Given the description of an element on the screen output the (x, y) to click on. 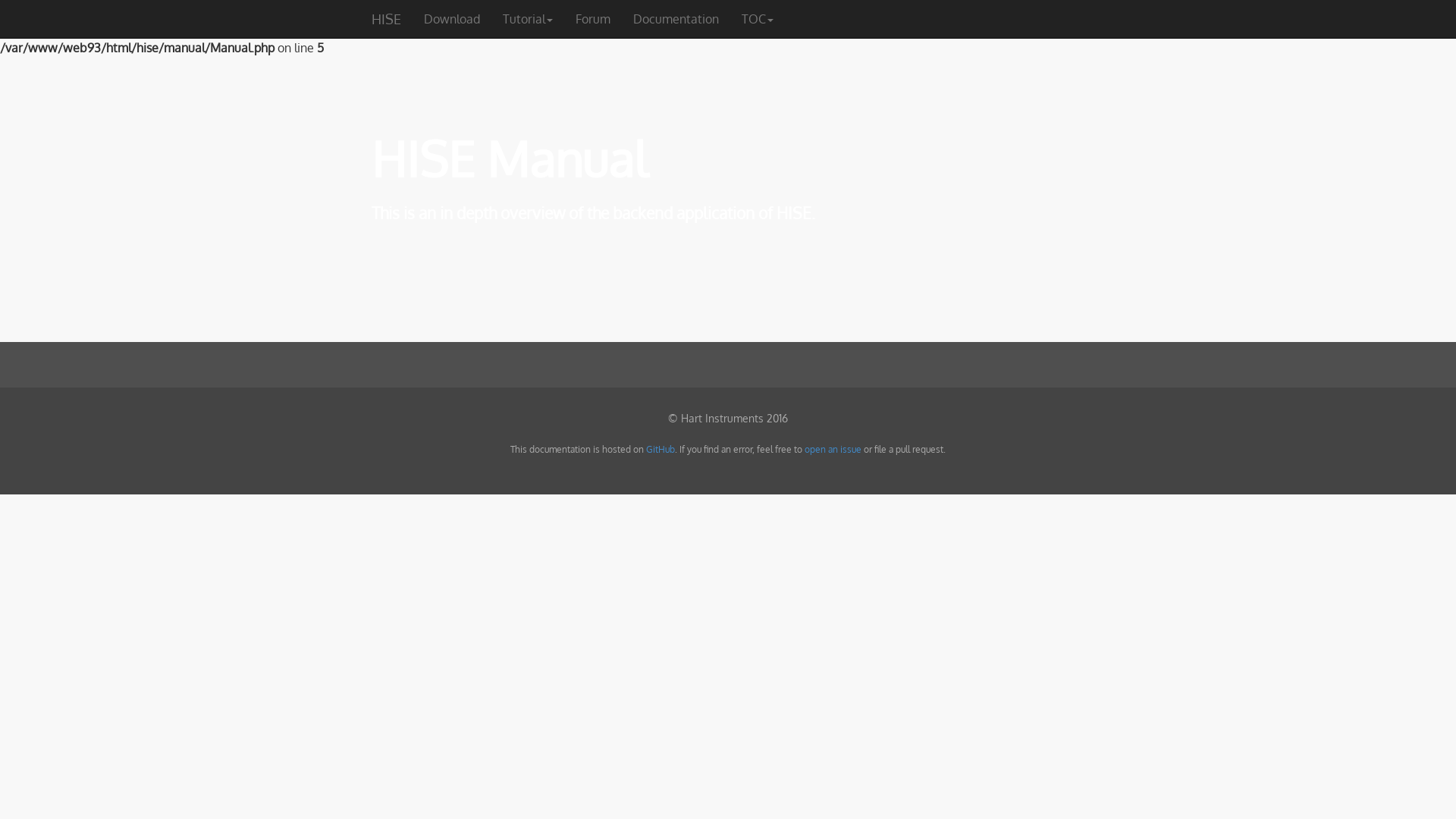
Download Element type: text (451, 18)
TOC Element type: text (757, 18)
Tutorial Element type: text (527, 18)
open an issue Element type: text (832, 449)
HISE Element type: text (386, 18)
Forum Element type: text (592, 18)
function.file-get-contents Element type: text (731, 28)
GitHub Element type: text (660, 449)
Documentation Element type: text (675, 18)
